Given the description of an element on the screen output the (x, y) to click on. 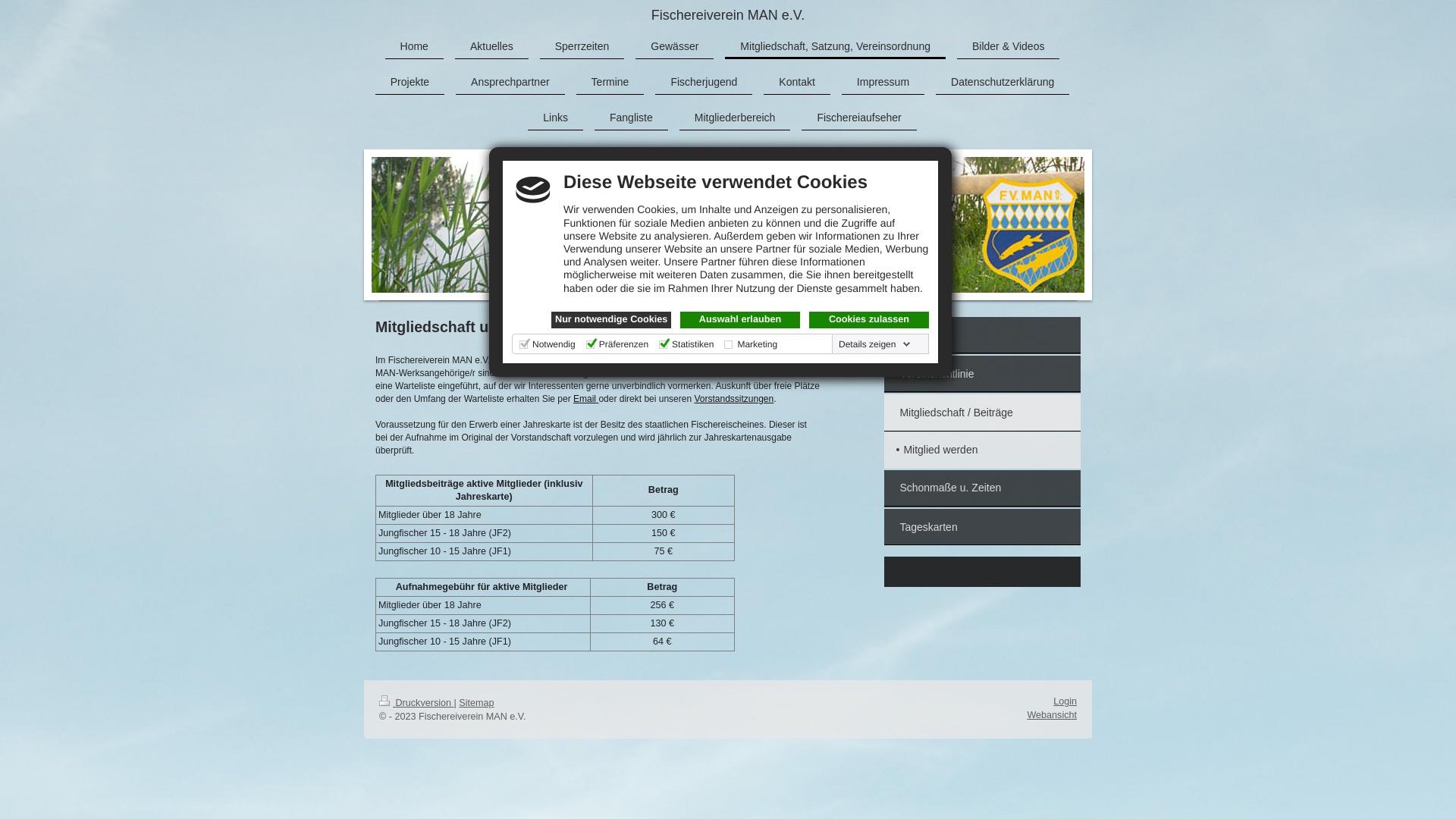
Fischerjugend Element type: text (703, 81)
Vorstandssitzungen Element type: text (733, 398)
Mitgliederbereich Element type: text (734, 117)
Login Element type: text (1064, 701)
Cookies zulassen Element type: text (868, 319)
Links Element type: text (555, 117)
Auswahl erlauben Element type: text (740, 319)
Projekte Element type: text (409, 81)
Impressum Element type: text (882, 81)
Home Element type: text (414, 46)
Details zeigen Element type: text (874, 344)
Kontakt Element type: text (796, 81)
Termine Element type: text (610, 81)
Fischereiaufseher Element type: text (858, 117)
Tageskarten Element type: text (982, 526)
Vereinsrichtlinie Element type: text (982, 373)
Email Element type: text (584, 398)
Aktuelles Element type: text (491, 46)
Satzung Element type: text (982, 335)
Bilder & Videos Element type: text (1008, 46)
Fangliste Element type: text (631, 117)
Sperrzeiten Element type: text (581, 46)
  Element type: text (597, 398)
Druckversion Element type: text (416, 702)
Sitemap Element type: text (475, 702)
Mitglied werden Element type: text (982, 450)
Webansicht Element type: text (1051, 714)
Fischereiverein MAN e.V. Element type: text (727, 14)
Mitgliedschaft, Satzung, Vereinsordnung Element type: text (834, 46)
Ansprechpartner Element type: text (509, 81)
Nur notwendige Cookies Element type: text (611, 319)
